Given the description of an element on the screen output the (x, y) to click on. 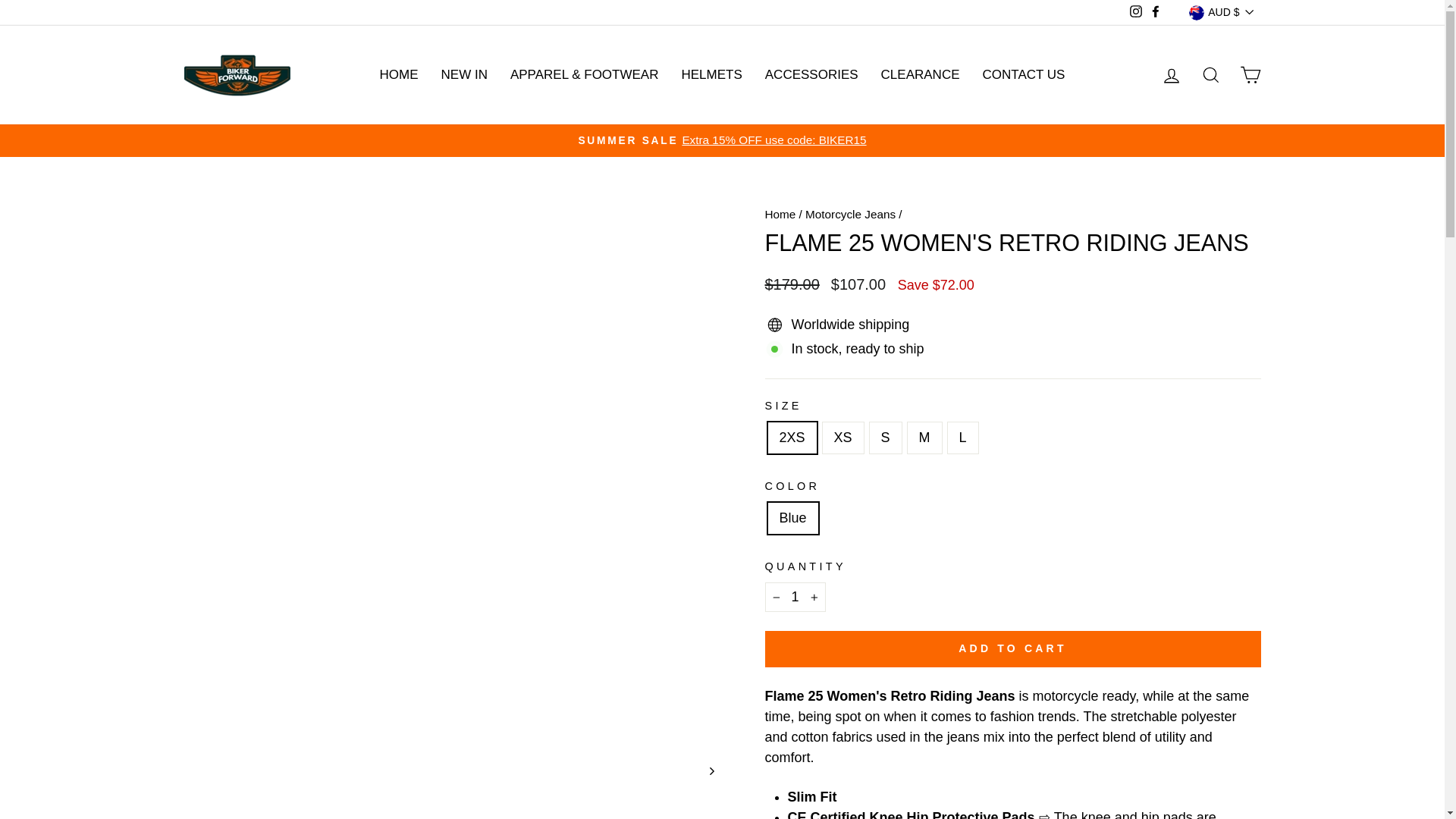
Back to the frontpage (779, 214)
1 (794, 596)
